Given the description of an element on the screen output the (x, y) to click on. 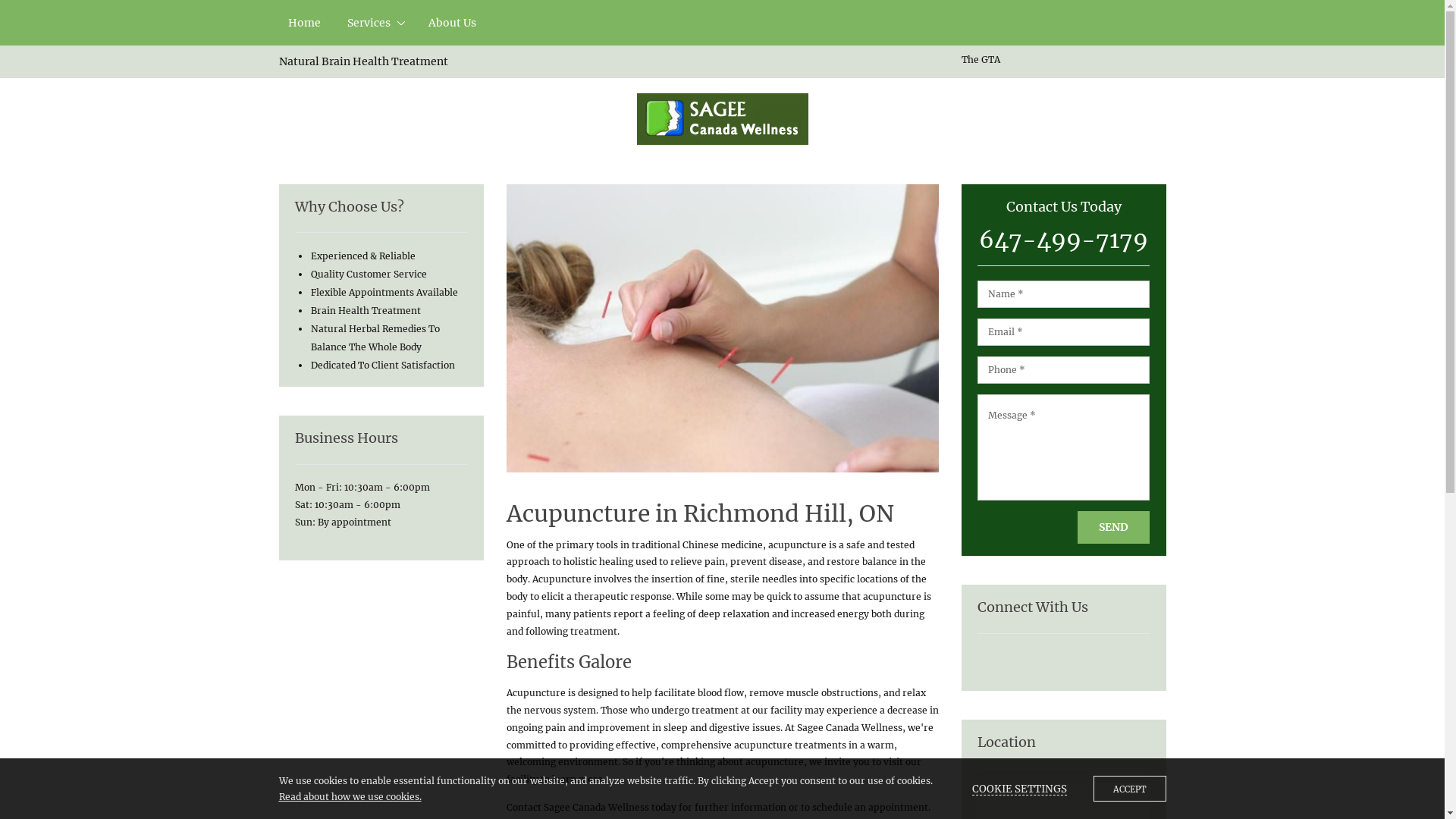
Home Element type: text (304, 22)
COOKIE SETTINGS Element type: text (1019, 789)
About Us Element type: text (451, 22)
Read about how we use cookies. Element type: text (350, 796)
SEND Element type: text (1113, 527)
Services Element type: text (374, 22)
ACCEPT Element type: text (1129, 788)
